Given the description of an element on the screen output the (x, y) to click on. 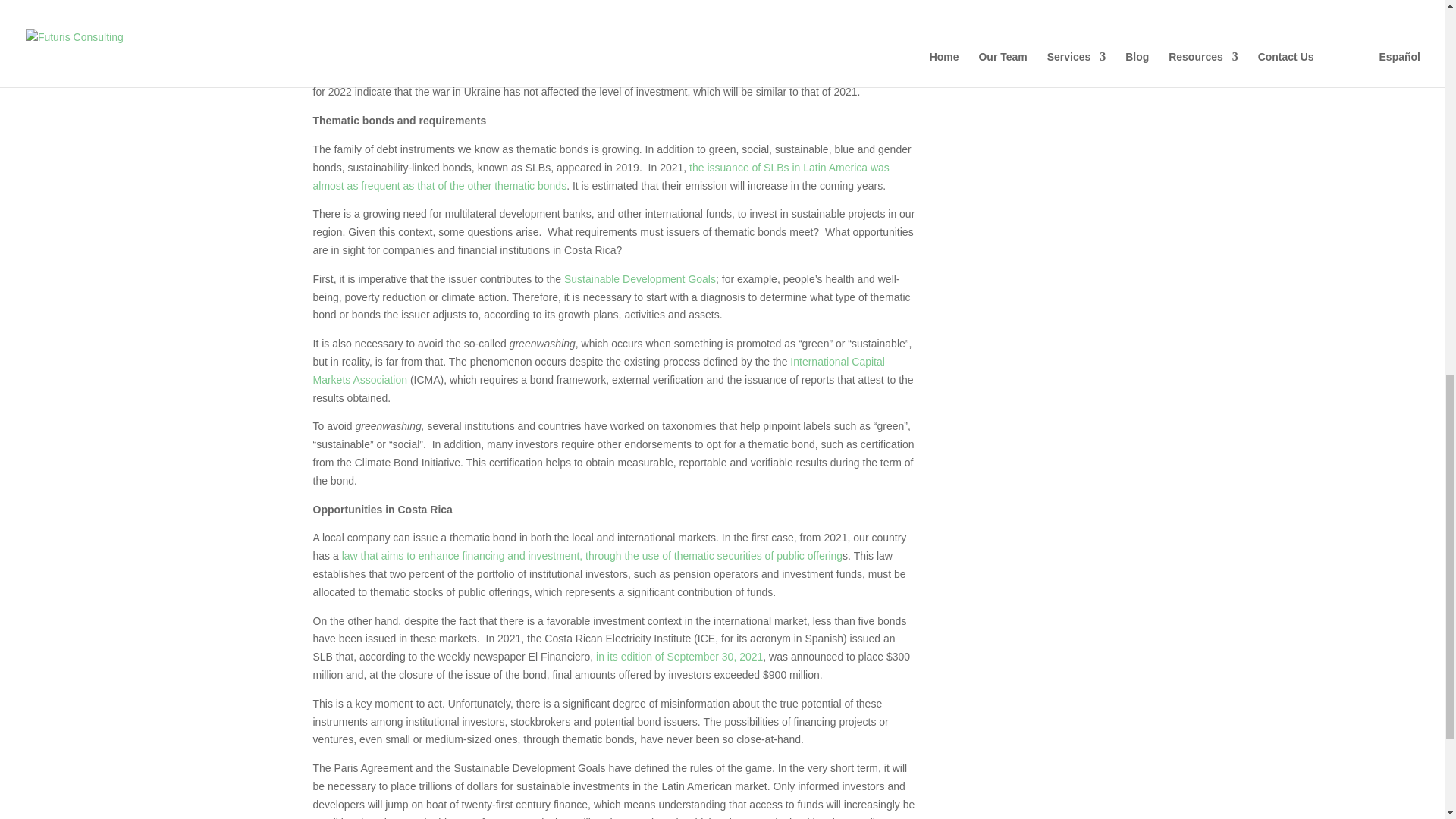
in its edition of September 30, 2021 (677, 656)
Sustainable Development Goals (640, 278)
International Capital Markets Association (598, 370)
